Given the description of an element on the screen output the (x, y) to click on. 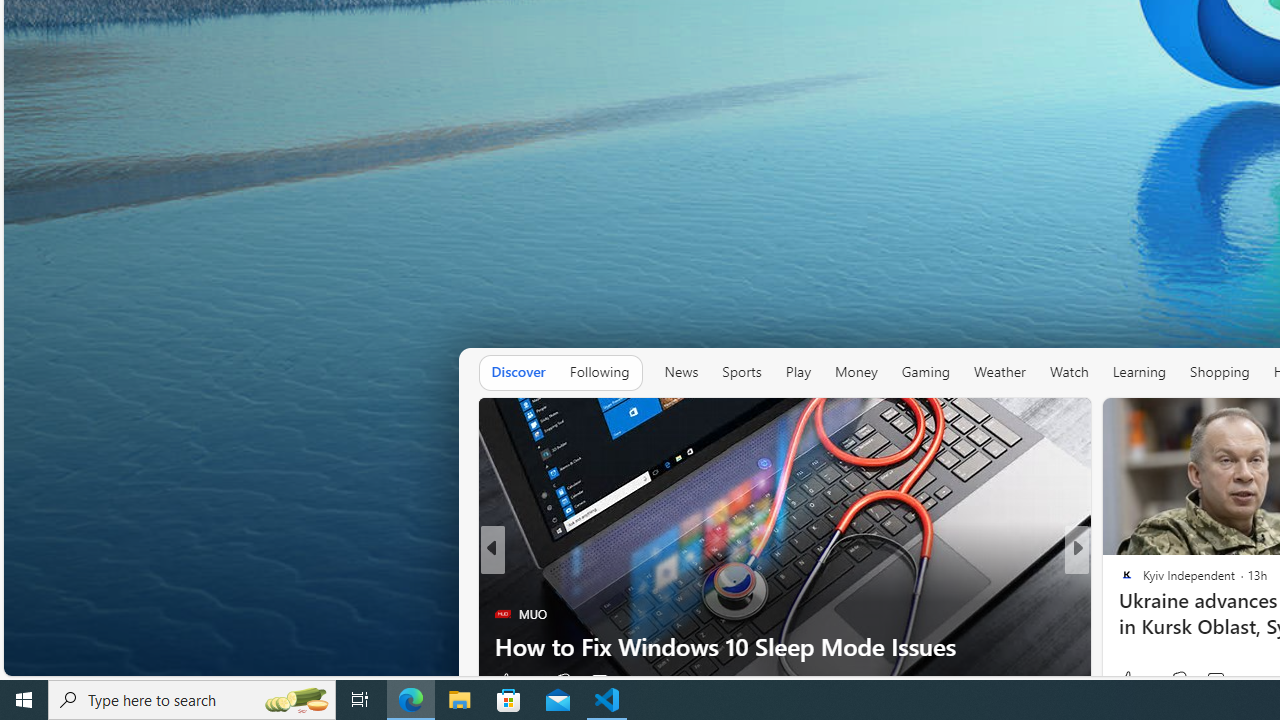
745 Like (1132, 681)
12 Like (1128, 681)
Gaming (925, 371)
Learning (1138, 372)
Moneywise (1117, 581)
Gaming (925, 372)
MUO (502, 614)
View comments 175 Comment (1208, 681)
View comments 175 Comment (1220, 681)
View comments 141 Comment (1215, 681)
